Given the description of an element on the screen output the (x, y) to click on. 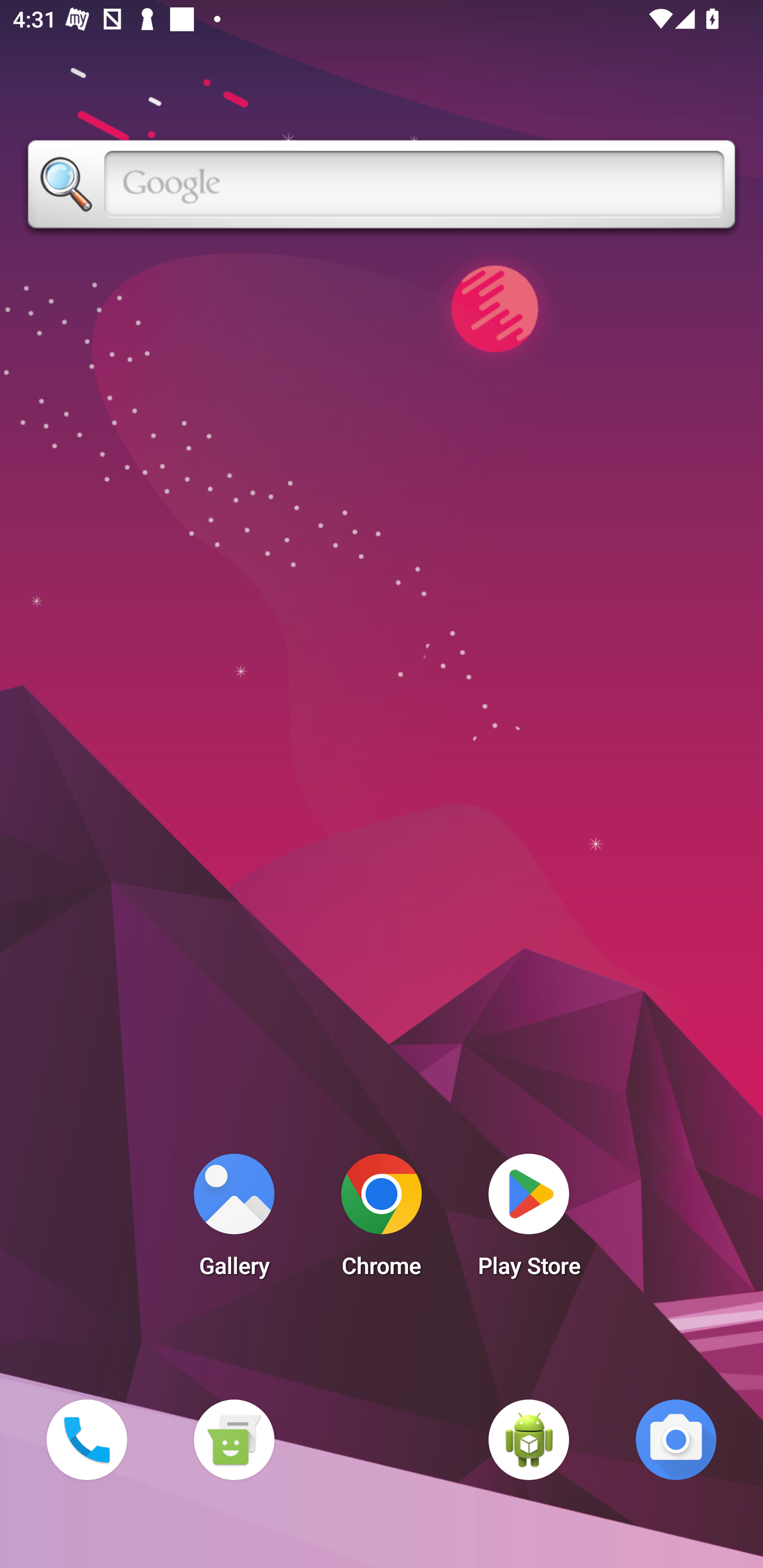
Gallery (233, 1220)
Chrome (381, 1220)
Play Store (528, 1220)
Phone (86, 1439)
Messaging (233, 1439)
WebView Browser Tester (528, 1439)
Camera (676, 1439)
